Given the description of an element on the screen output the (x, y) to click on. 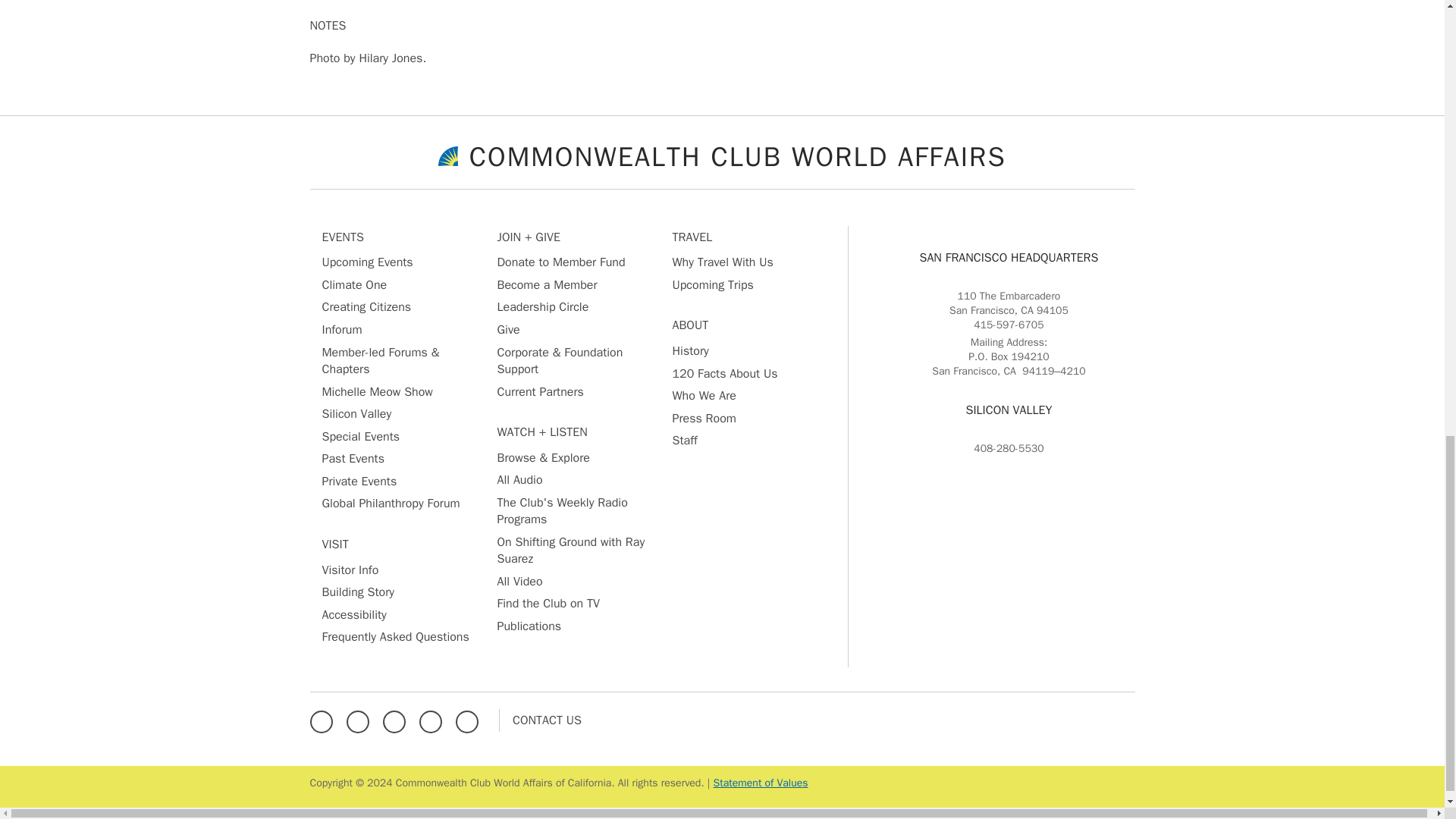
X (361, 719)
Linkedin (434, 719)
Member and Guest Policy (760, 782)
Facebook (323, 719)
Instagram (397, 719)
YouTube (470, 719)
